Given the description of an element on the screen output the (x, y) to click on. 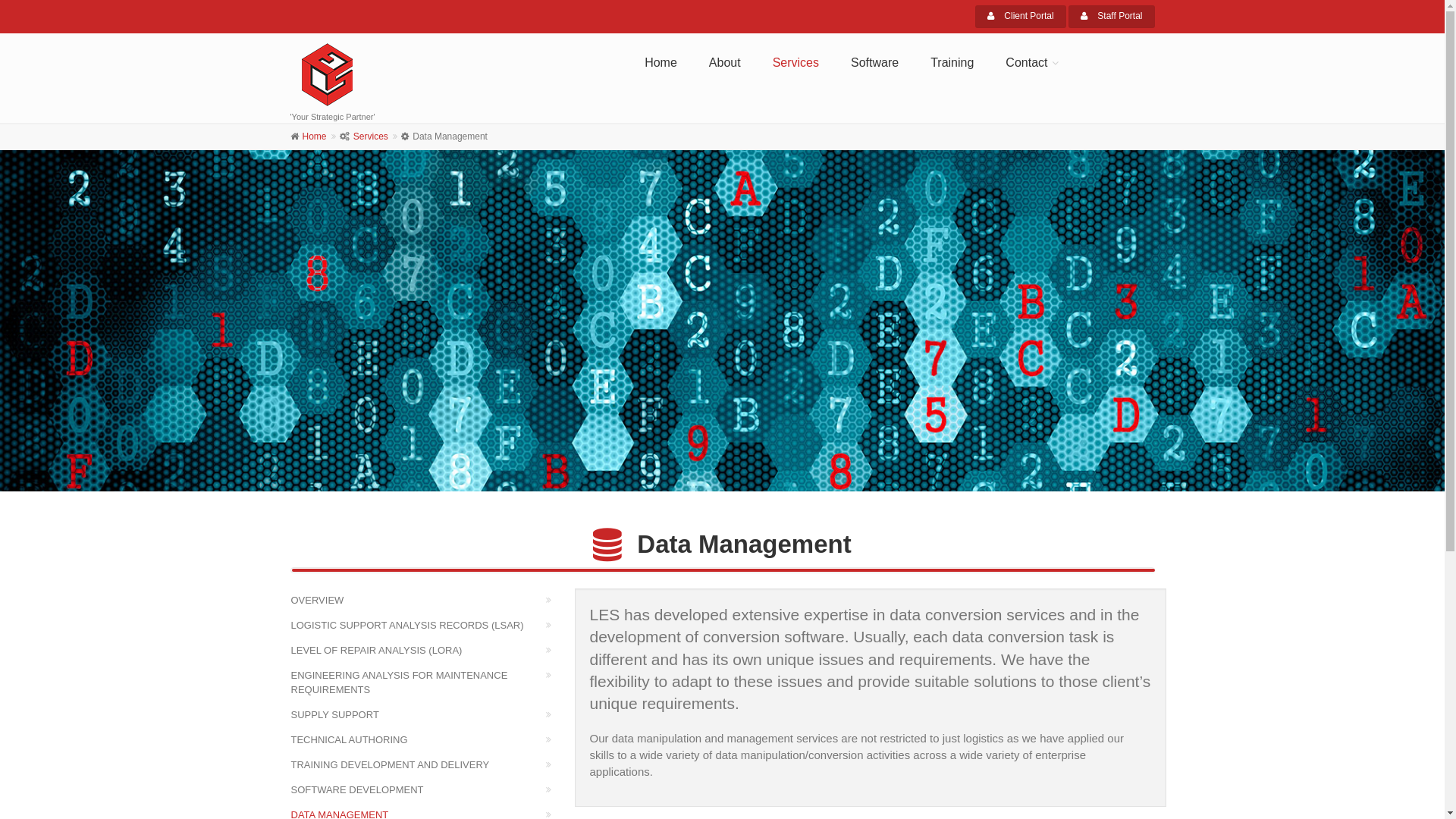
Home Element type: text (660, 62)
Contact Element type: text (1028, 62)
Client Portal Element type: text (1020, 16)
SOFTWARE DEVELOPMENT Element type: text (425, 789)
OVERVIEW Element type: text (425, 599)
Software Element type: text (874, 62)
LEVEL OF REPAIR ANALYSIS (LORA) Element type: text (425, 650)
Services Element type: text (370, 136)
TECHNICAL AUTHORING Element type: text (425, 739)
About Element type: text (724, 62)
Services Element type: text (795, 62)
LOGISTIC SUPPORT ANALYSIS RECORDS (LSAR) Element type: text (425, 625)
Home Element type: text (313, 136)
TRAINING DEVELOPMENT AND DELIVERY Element type: text (425, 764)
Training Element type: text (951, 62)
Staff Portal Element type: text (1111, 16)
ENGINEERING ANALYSIS FOR MAINTENANCE REQUIREMENTS Element type: text (425, 682)
SUPPLY SUPPORT Element type: text (425, 714)
